Given the description of an element on the screen output the (x, y) to click on. 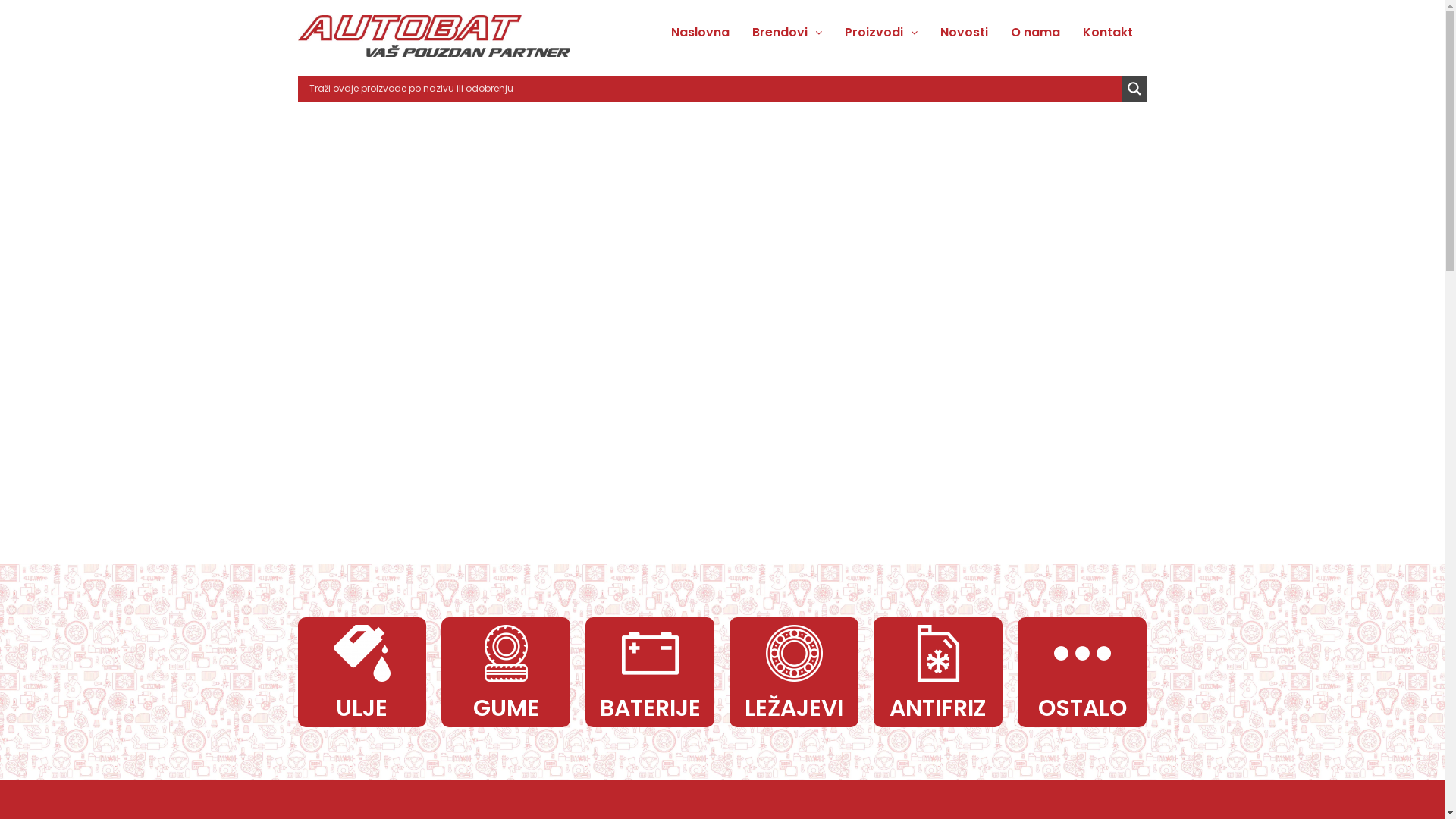
Brendovi Element type: text (786, 32)
ULJE Element type: hover (361, 652)
Proizvodi Element type: text (880, 32)
ANTIFRIZ Element type: hover (938, 652)
OSTALO Element type: hover (1082, 652)
Kontakt Element type: text (1107, 32)
GUME Element type: hover (505, 652)
Naslovna Element type: text (699, 32)
Search Element type: text (950, 428)
Novosti Element type: text (963, 32)
O nama Element type: text (1035, 32)
BATERIJE Element type: hover (649, 652)
